Given the description of an element on the screen output the (x, y) to click on. 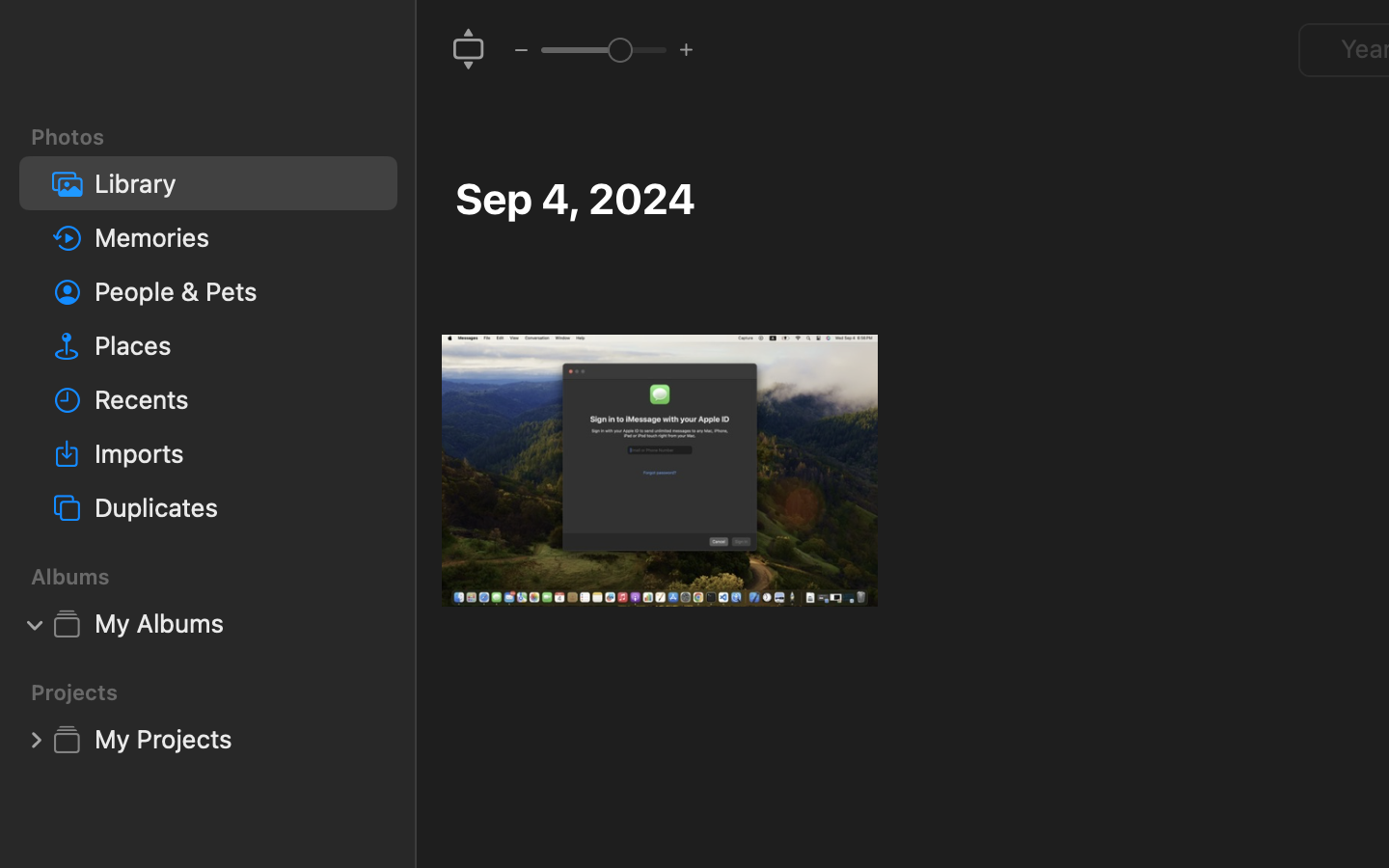
My Albums Element type: AXStaticText (237, 622)
2.0 Element type: AXSlider (602, 48)
Imports Element type: AXStaticText (237, 452)
People & Pets Element type: AXStaticText (237, 290)
0 Element type: AXDisclosureTriangle (35, 738)
